Given the description of an element on the screen output the (x, y) to click on. 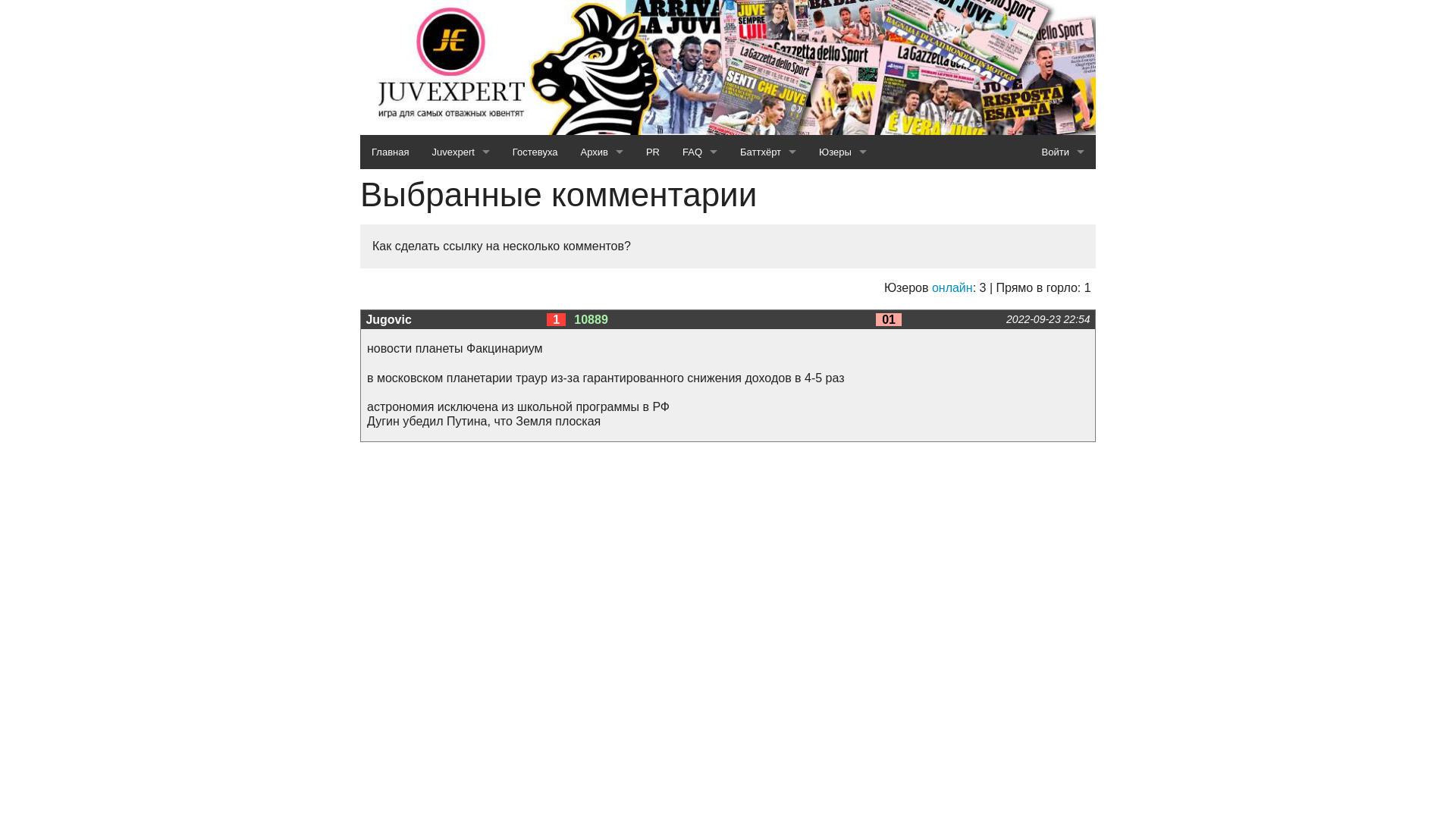
1 Element type: text (555, 319)
PR Element type: text (652, 151)
2021/2022 Element type: text (601, 220)
2014/2015 Element type: text (601, 459)
2016/2017 Element type: text (601, 390)
2018/2019 Element type: text (601, 322)
Serie A (2023 / 2024) Element type: text (460, 186)
2013/2014 Element type: text (601, 493)
Jugovic Element type: text (388, 319)
2012/2013 Element type: text (601, 527)
2019/2020 Element type: text (601, 288)
01 Element type: text (888, 319)
2022/2023 Element type: text (601, 186)
FAQ Element type: text (699, 151)
Juvexpert Element type: text (460, 151)
2017/2018 Element type: text (601, 356)
2015/2016 Element type: text (601, 424)
Serie B (2023 / 2024) Element type: text (460, 220)
2022-09-23 22:54 Element type: text (1048, 319)
MotoGP & Biathlon Element type: text (460, 322)
2020/2021 Element type: text (601, 254)
